Given the description of an element on the screen output the (x, y) to click on. 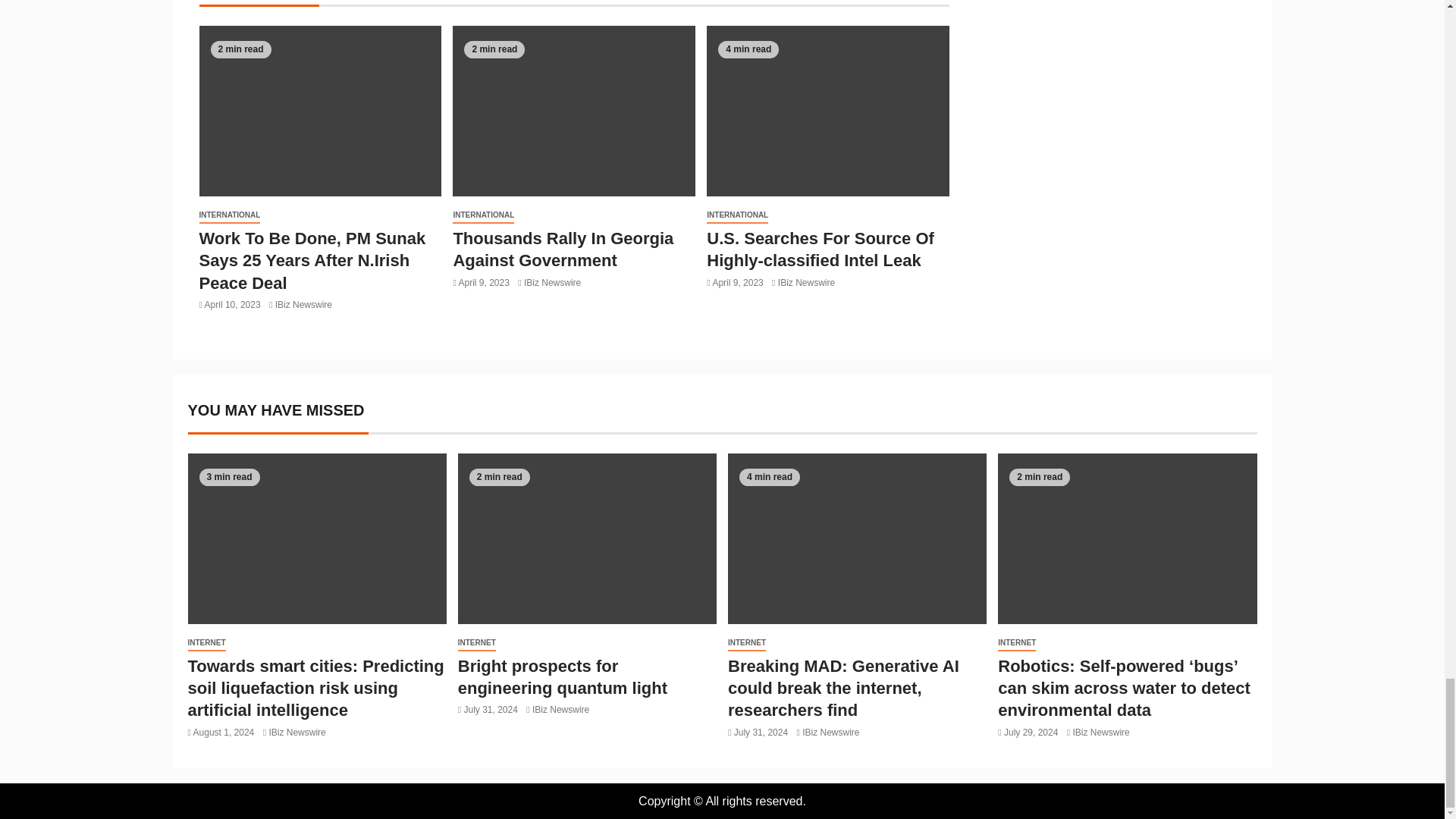
IBiz Newswire (552, 282)
IBiz Newswire (805, 282)
IBiz Newswire (303, 304)
INTERNATIONAL (229, 215)
Thousands Rally In Georgia Against Government (562, 249)
U.S. Searches For Source Of Highly-classified Intel Leak (820, 249)
INTERNATIONAL (737, 215)
INTERNATIONAL (482, 215)
